Given the description of an element on the screen output the (x, y) to click on. 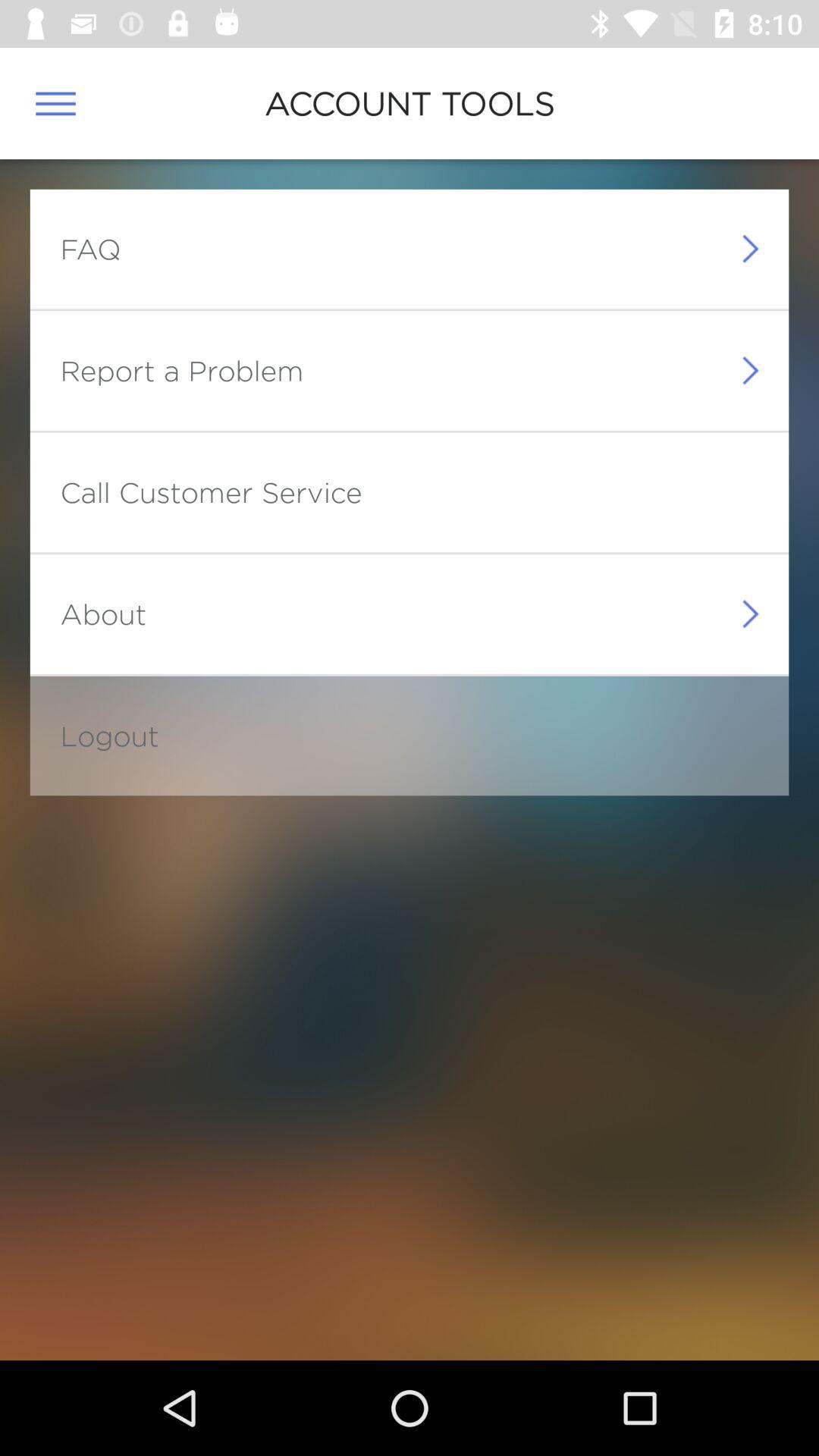
press faq item (90, 248)
